Given the description of an element on the screen output the (x, y) to click on. 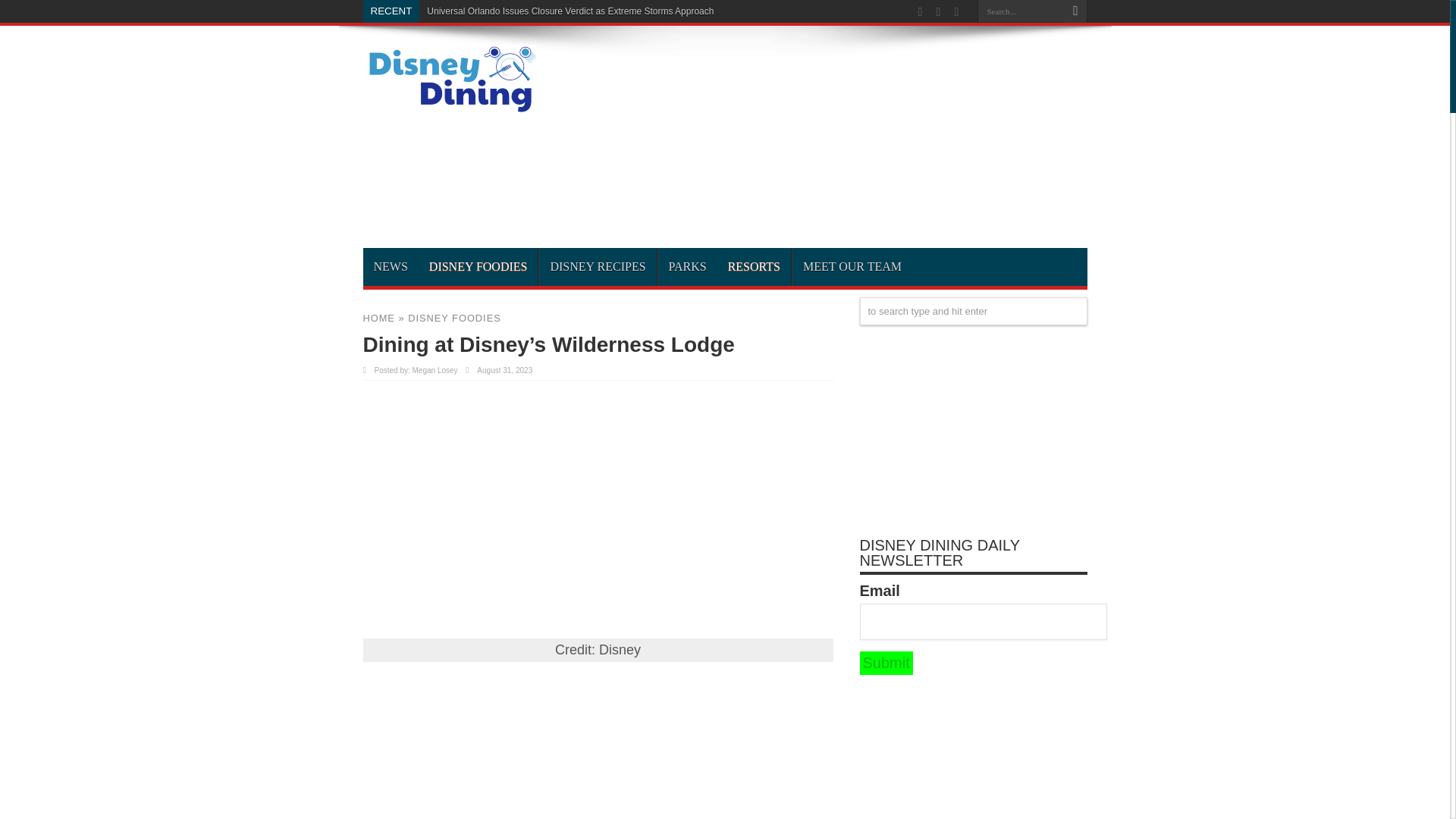
to search type and hit enter (973, 311)
NEWS (389, 266)
RESORTS (753, 266)
Search (1075, 11)
DISNEY FOODIES (453, 317)
Megan Losey (435, 370)
HOME (378, 317)
DISNEY RECIPES (597, 266)
DISNEY FOODIES (478, 266)
PARKS (687, 266)
MEET OUR TEAM (852, 266)
Search... (1020, 11)
Disney Dining (448, 107)
